Given the description of an element on the screen output the (x, y) to click on. 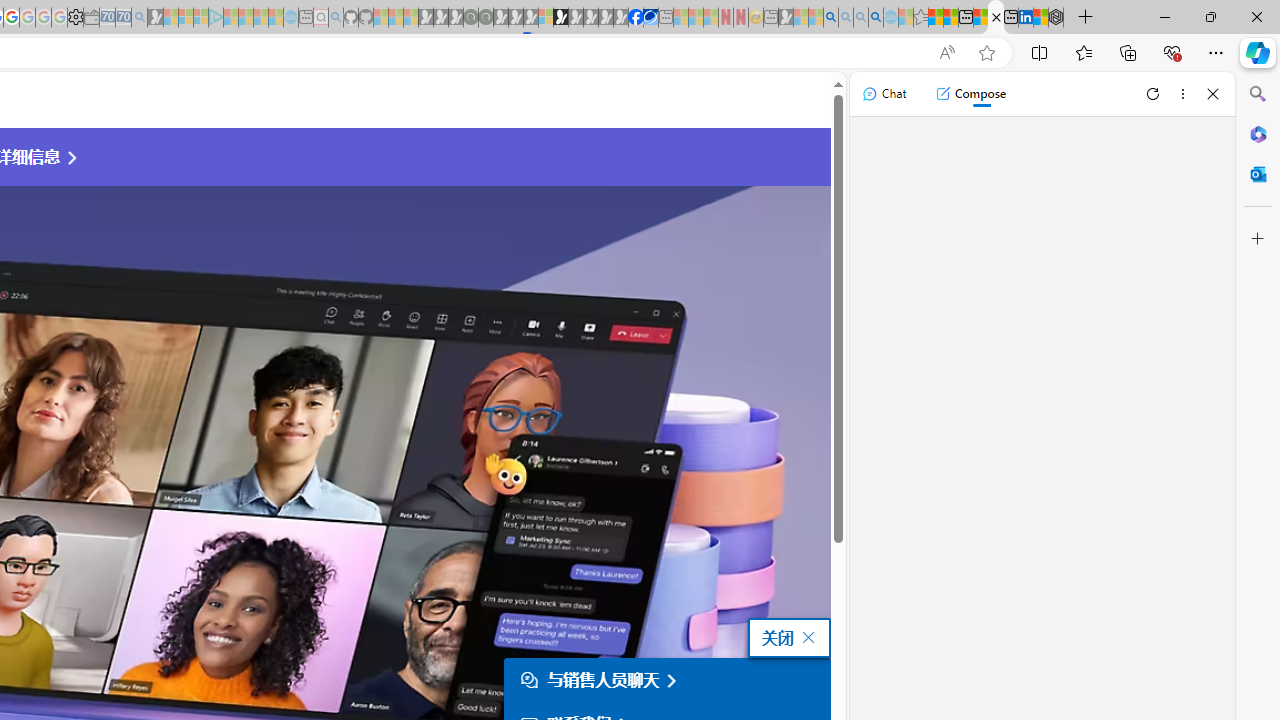
github - Search - Sleeping (336, 17)
Chat (884, 93)
Favorites - Sleeping (920, 17)
